Given the description of an element on the screen output the (x, y) to click on. 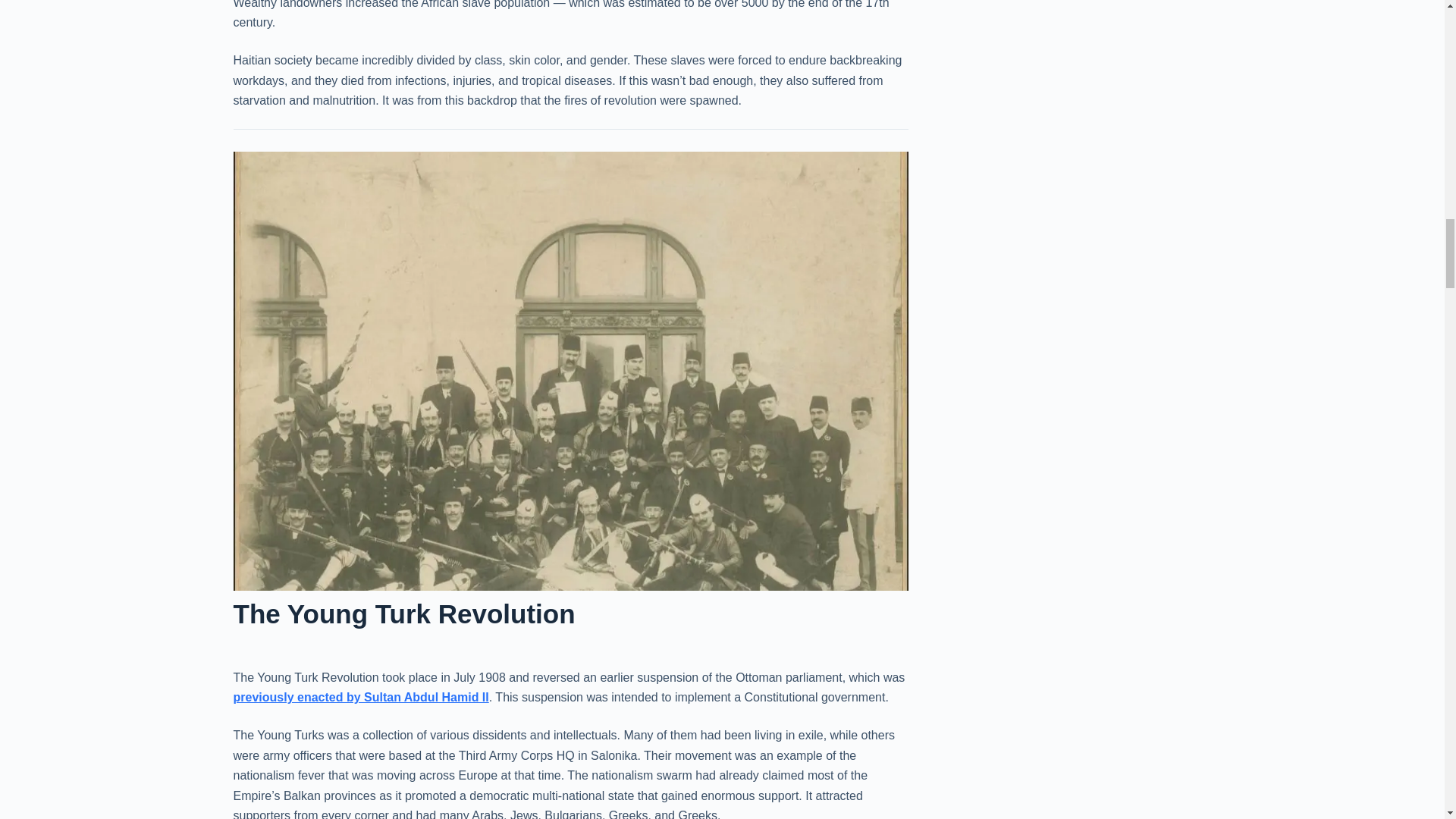
previously enacted by Sultan Abdul Hamid II (360, 697)
